Given the description of an element on the screen output the (x, y) to click on. 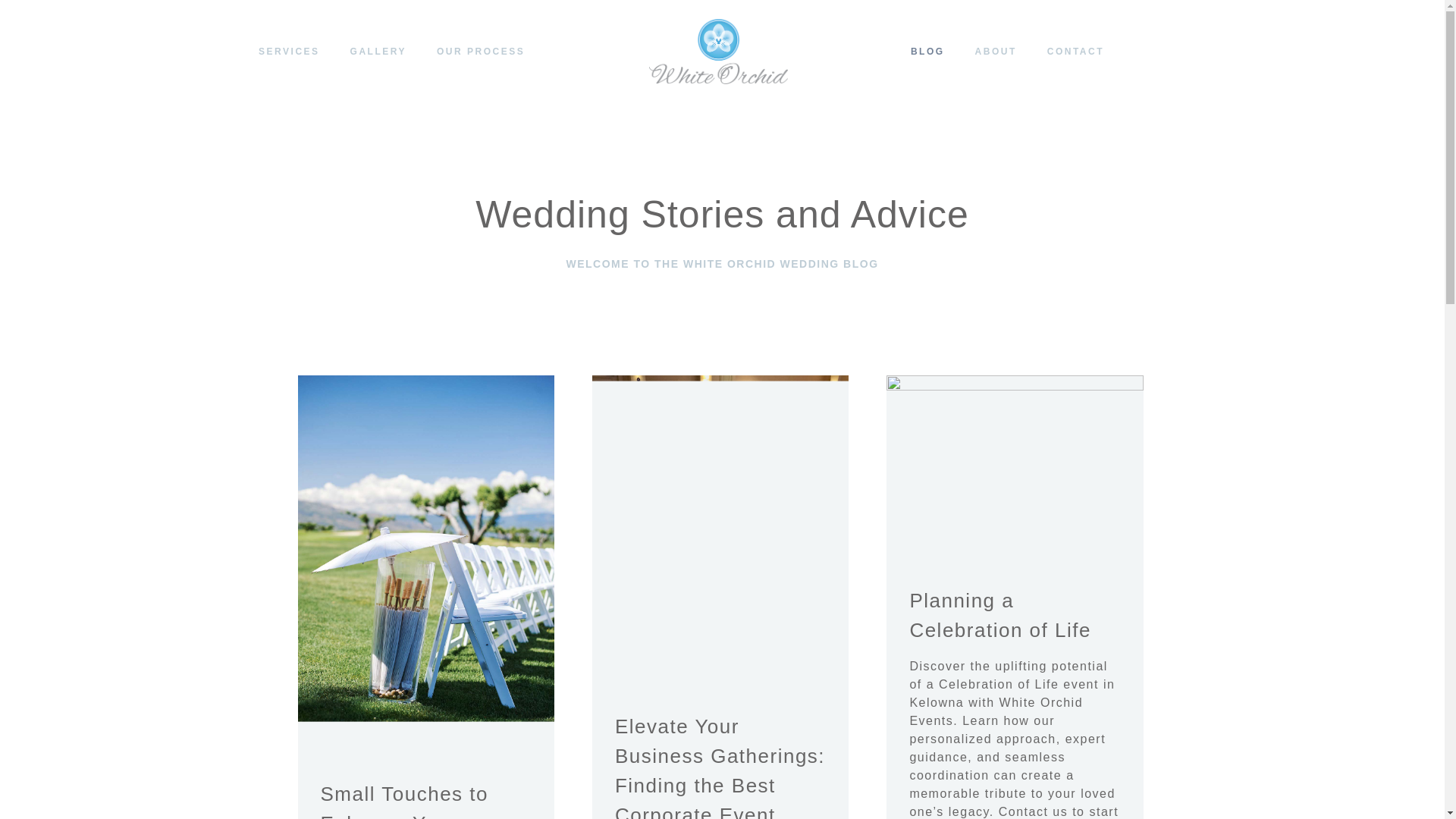
OUR PROCESS (481, 51)
Planning a Celebration of Life (1014, 471)
CONTACT (1075, 51)
SERVICES (288, 51)
ABOUT (995, 51)
BLOG (927, 51)
GALLERY (378, 51)
